Given the description of an element on the screen output the (x, y) to click on. 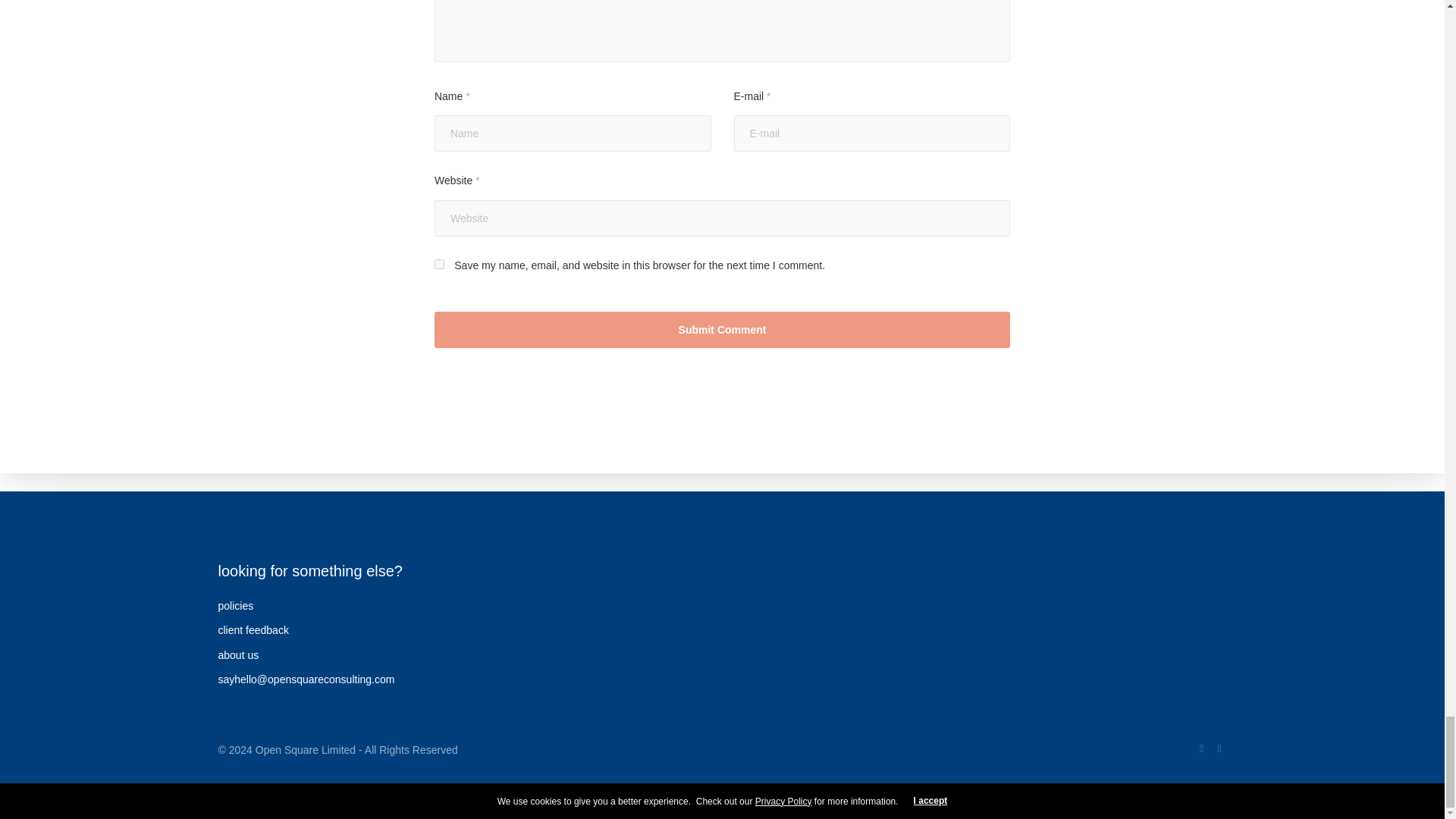
yes (438, 264)
Submit Comment (721, 330)
Submit Comment (721, 330)
